Given the description of an element on the screen output the (x, y) to click on. 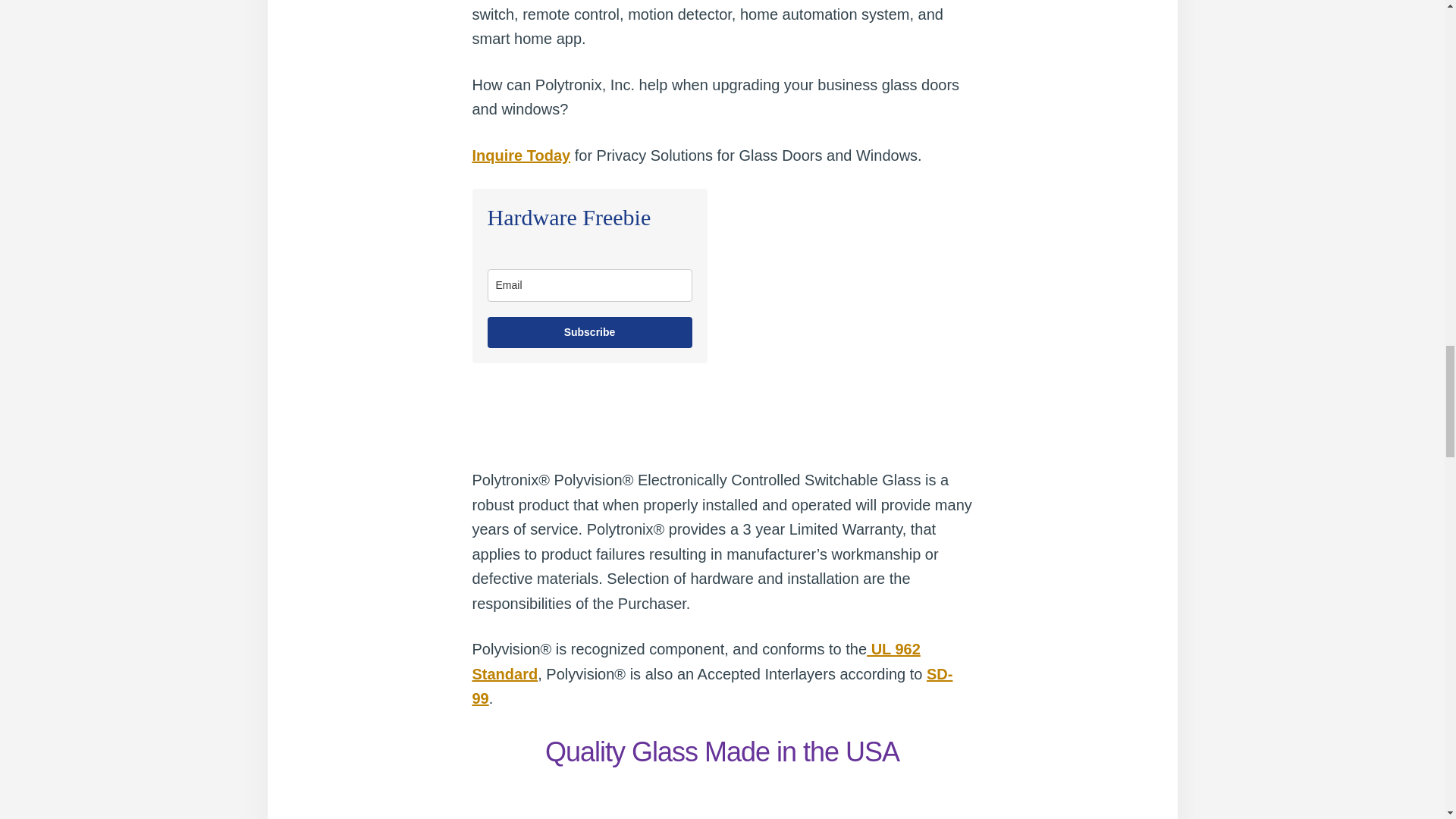
SD-99 (711, 686)
Subscribe (588, 332)
Inquire Today (520, 155)
UL 962 Standard (695, 661)
